Given the description of an element on the screen output the (x, y) to click on. 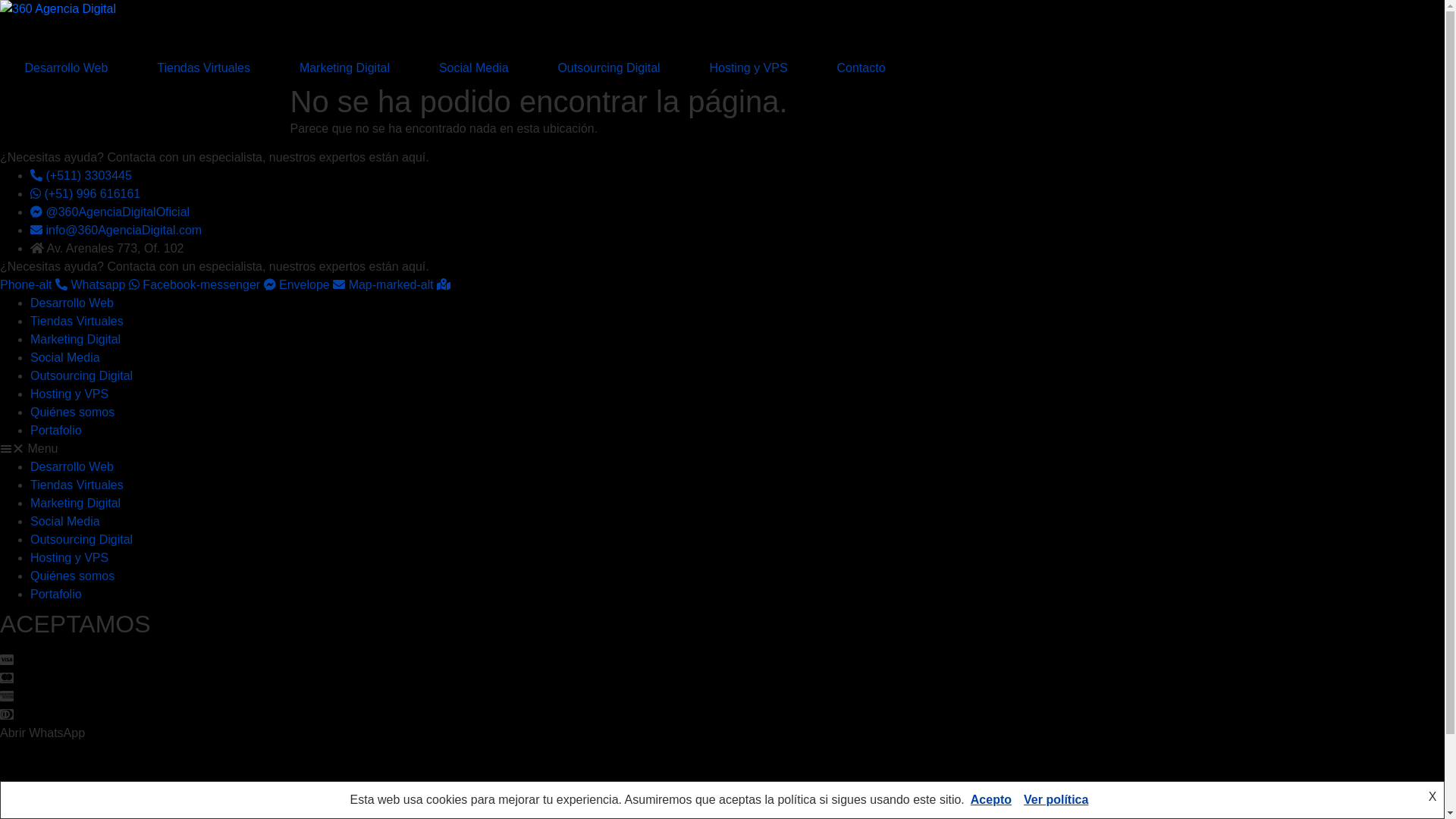
Hosting y VPS Element type: text (69, 393)
Marketing Digital Element type: text (344, 68)
Marketing Digital Element type: text (75, 502)
@360AgenciaDigitalOficial Element type: text (109, 211)
Outsourcing Digital Element type: text (608, 68)
Map-marked-alt Element type: text (399, 284)
Social Media Element type: text (473, 68)
Contacto Element type: text (861, 68)
Phone-alt Element type: text (35, 284)
Whatsapp Element type: text (106, 284)
Hosting y VPS Element type: text (69, 557)
Envelope Element type: text (313, 284)
Desarrollo Web Element type: text (71, 466)
Acepto Element type: text (990, 799)
Desarrollo Web Element type: text (71, 302)
(+511) 3303445 Element type: text (80, 175)
Desarrollo Web Element type: text (66, 68)
Marketing Digital Element type: text (75, 338)
info@360AgenciaDigital.com Element type: text (115, 229)
Tiendas Virtuales Element type: text (203, 68)
Social Media Element type: text (65, 520)
Portafolio Element type: text (55, 429)
(+51) 996 616161 Element type: text (85, 193)
Hosting y VPS Element type: text (748, 68)
Tiendas Virtuales Element type: text (76, 484)
Social Media Element type: text (65, 357)
Outsourcing Digital Element type: text (81, 375)
Outsourcing Digital Element type: text (81, 539)
Tiendas Virtuales Element type: text (76, 320)
Facebook-messenger Element type: text (210, 284)
Portafolio Element type: text (55, 593)
